Given the description of an element on the screen output the (x, y) to click on. 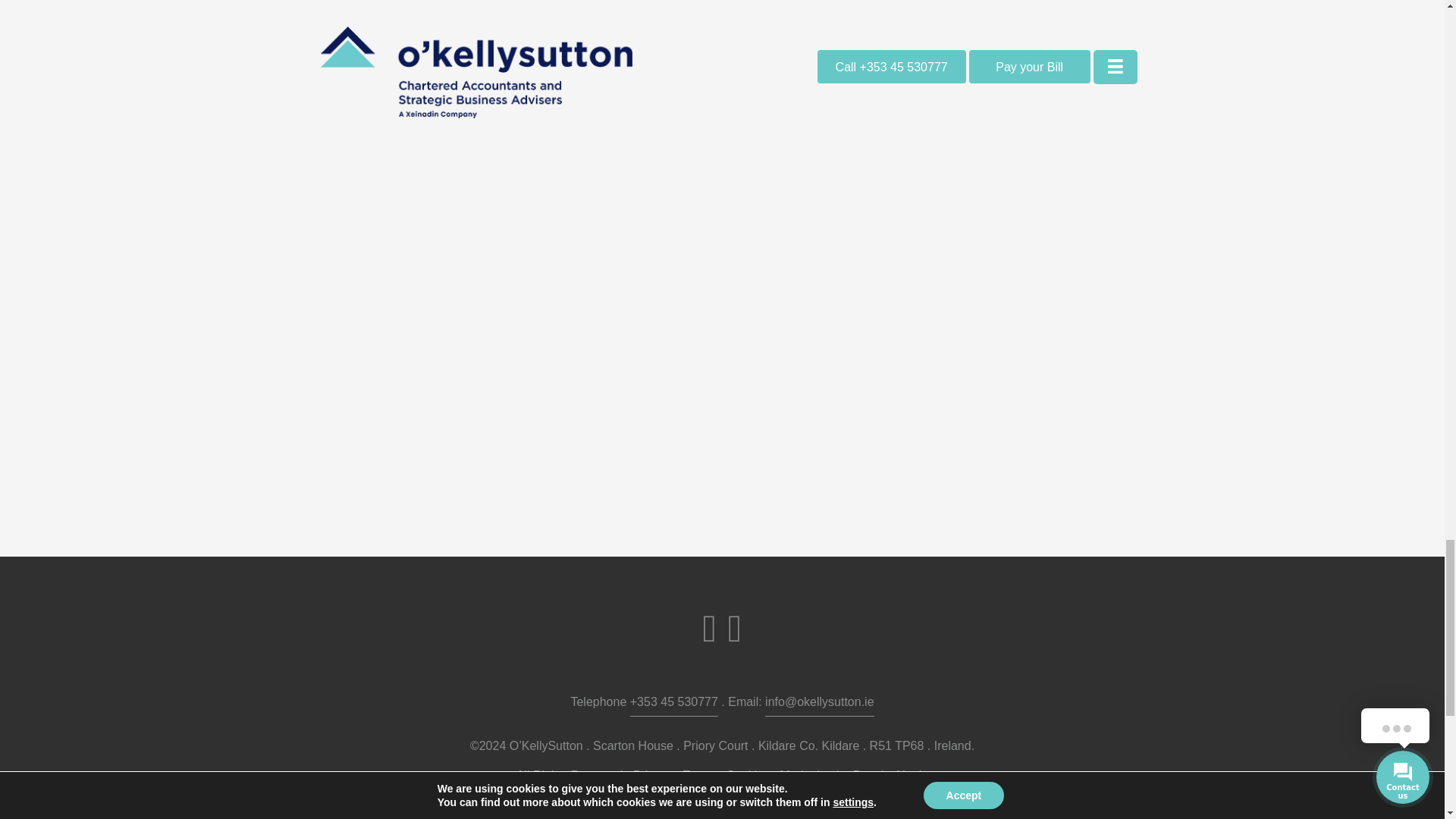
PracticeNet.ie (890, 777)
Privacy (652, 777)
Cookies (747, 777)
Terms (699, 777)
